Given the description of an element on the screen output the (x, y) to click on. 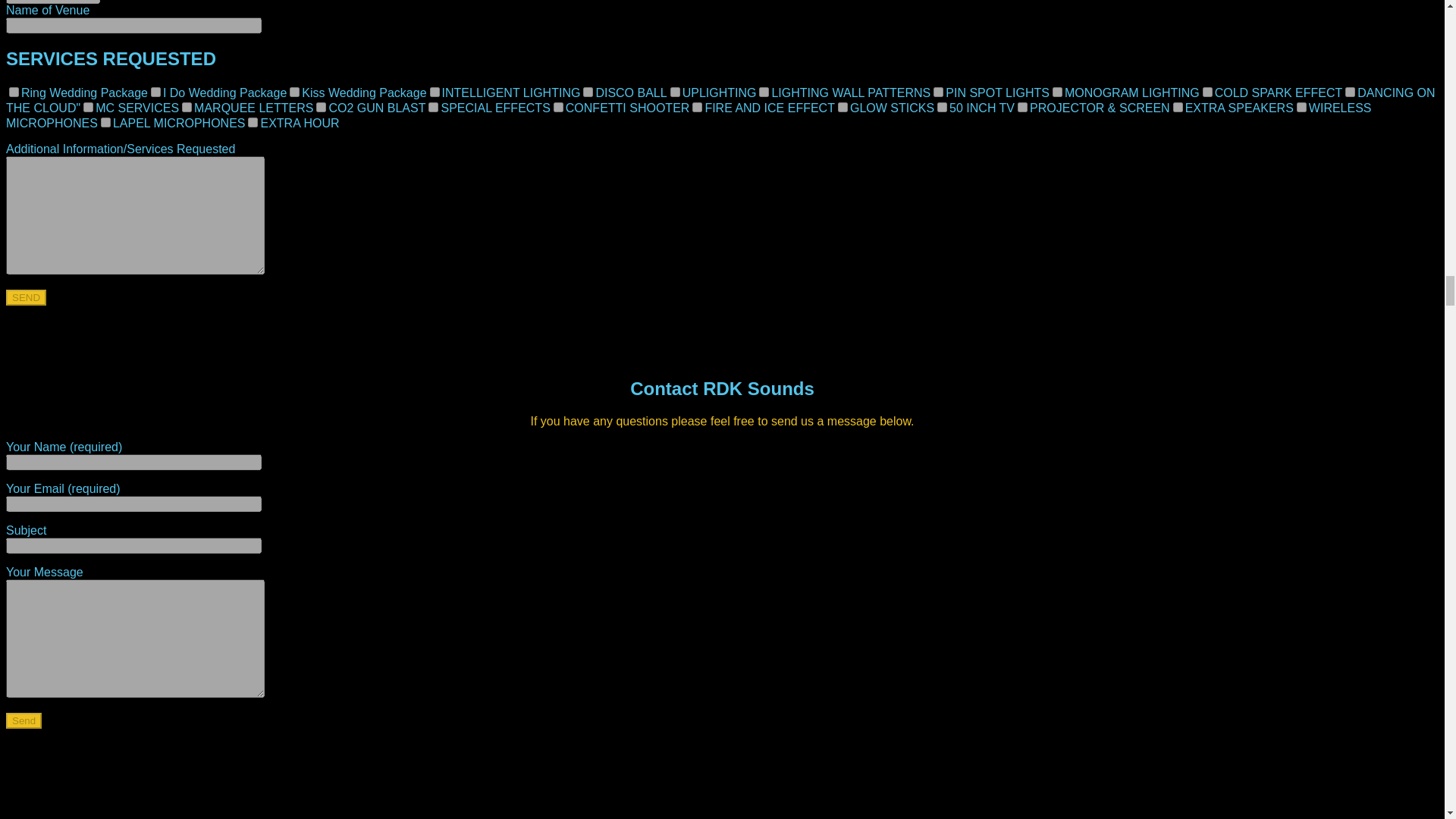
Ring Wedding Package (13, 91)
I Do Wedding Package (155, 91)
MONOGRAM LIGHTING (1057, 91)
UPLIGHTING (674, 91)
PIN SPOT LIGHTS (938, 91)
DISCO BALL (587, 91)
Kiss Wedding Package (294, 91)
INTELLIGENT LIGHTING (434, 91)
LIGHTING WALL PATTERNS (763, 91)
